Given the description of an element on the screen output the (x, y) to click on. 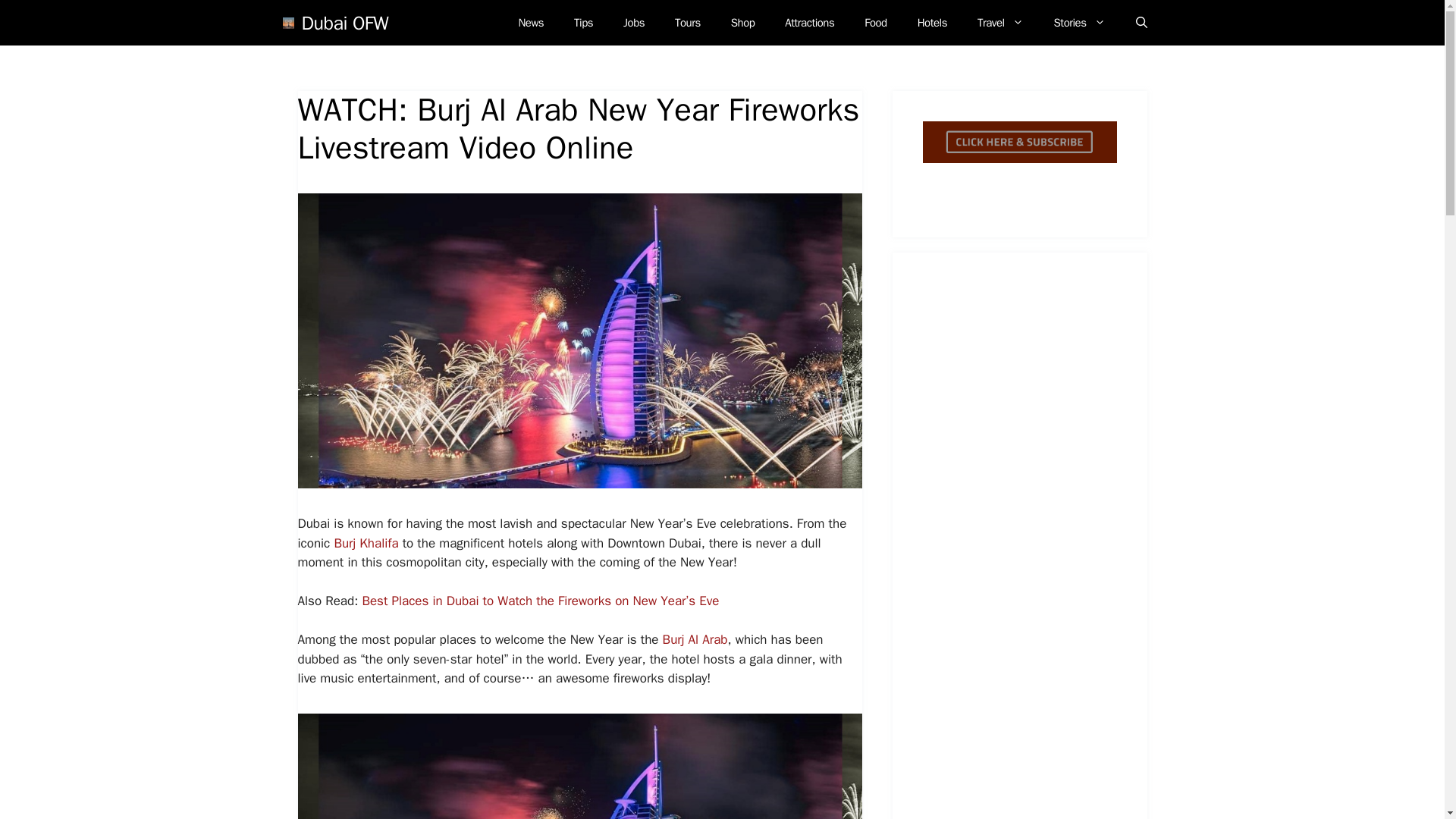
Travelling Beyond Dubai (1000, 22)
Book a Tour to Attractions in Dubai (687, 22)
Restaurants in Dubai (874, 22)
Dubai OFW (344, 22)
Hotel Staycation Experiences (932, 22)
